Given the description of an element on the screen output the (x, y) to click on. 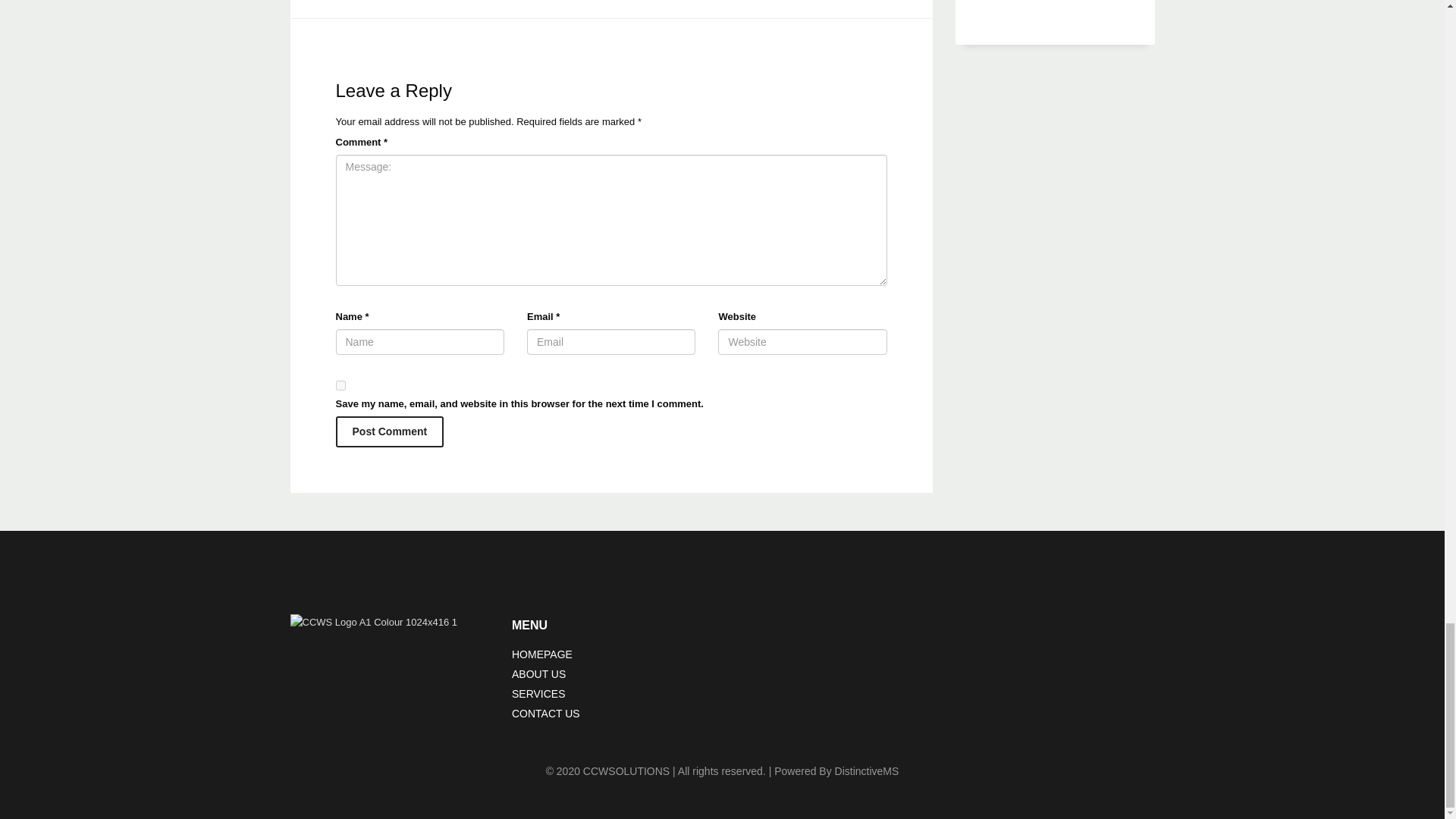
yes (339, 385)
Post Comment (389, 431)
